Given the description of an element on the screen output the (x, y) to click on. 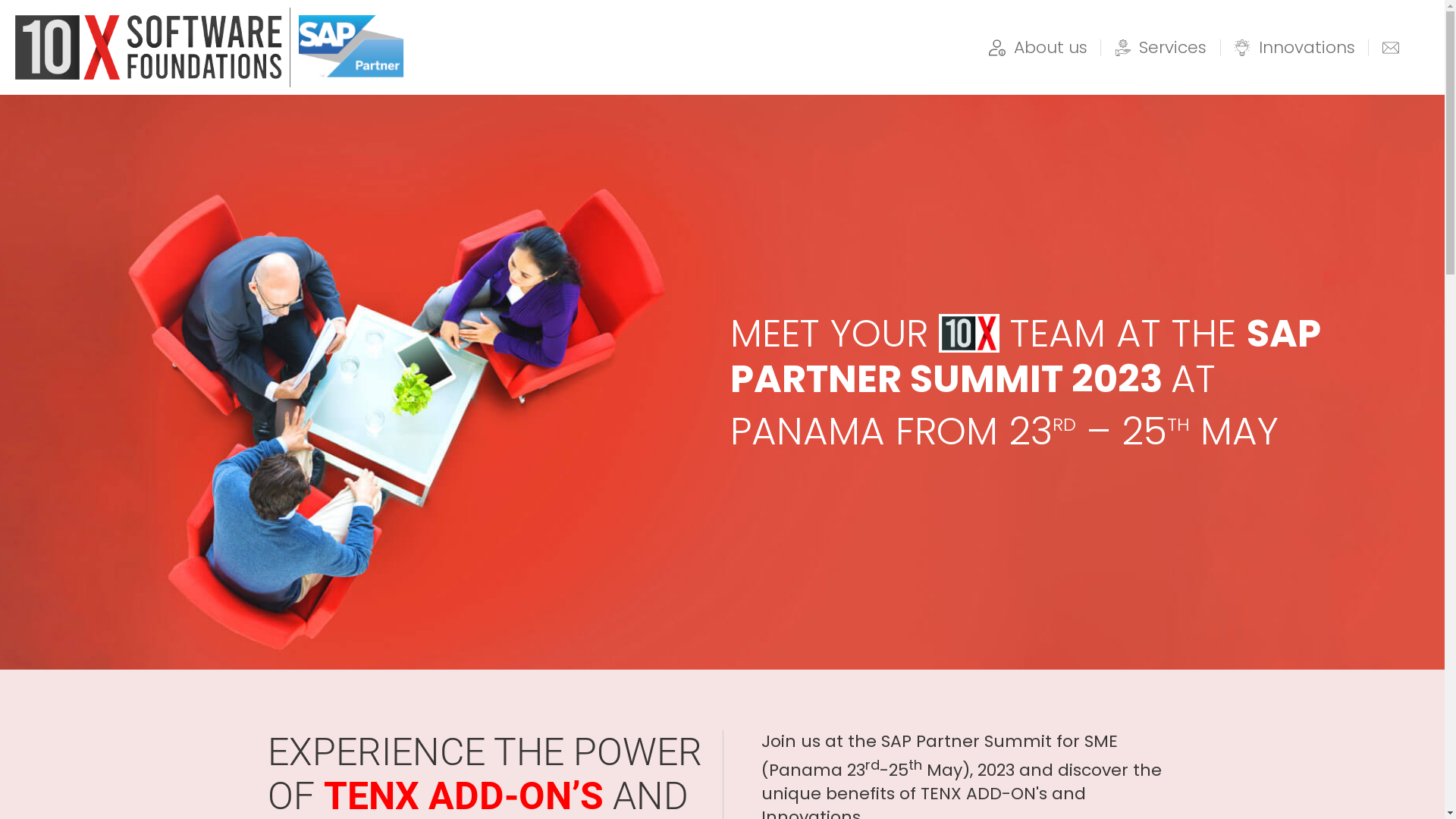
About us Element type: text (1037, 47)
Services Element type: text (1160, 47)
Innovations Element type: text (1294, 47)
